Given the description of an element on the screen output the (x, y) to click on. 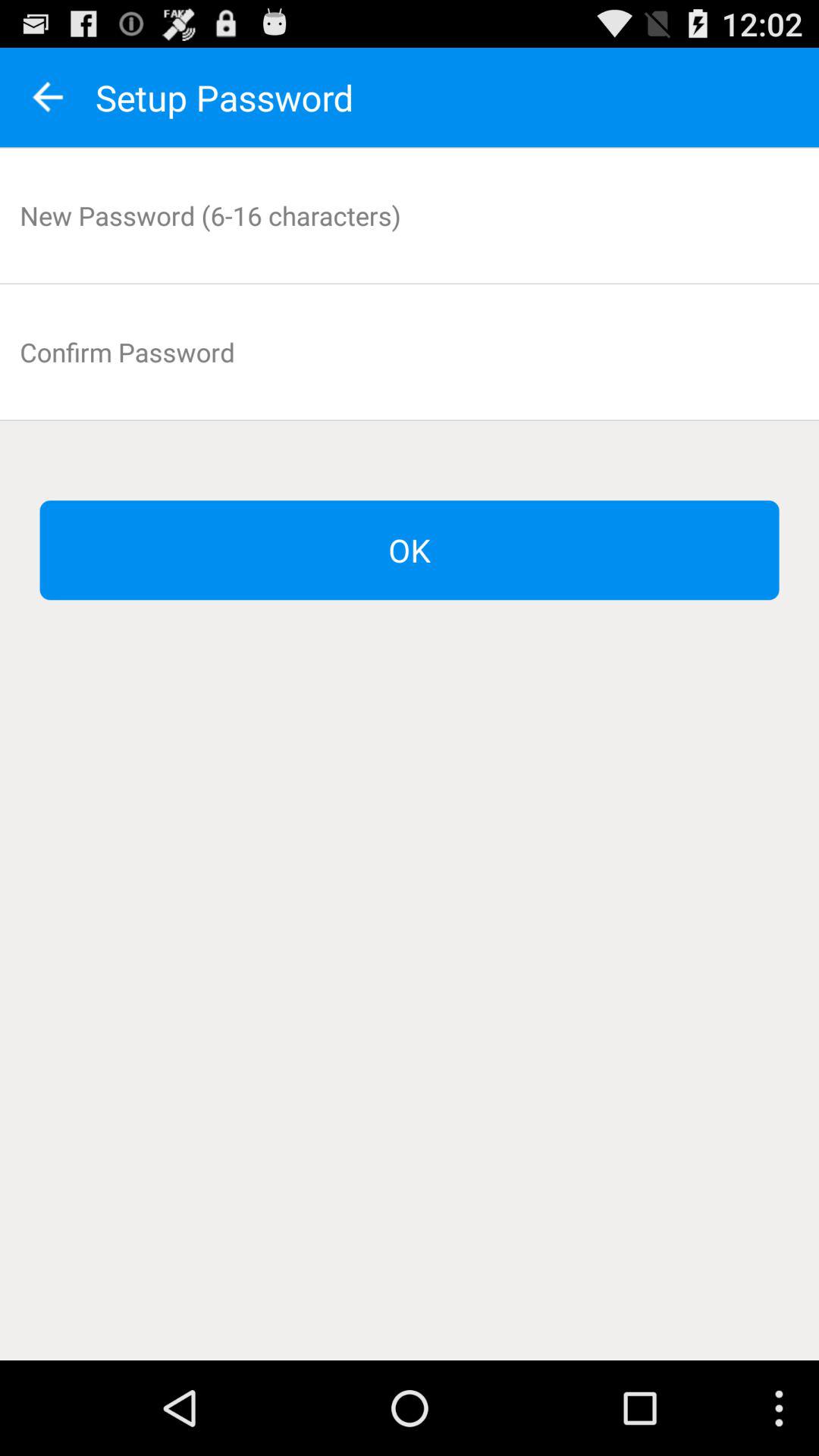
jump to the ok button (409, 550)
